Given the description of an element on the screen output the (x, y) to click on. 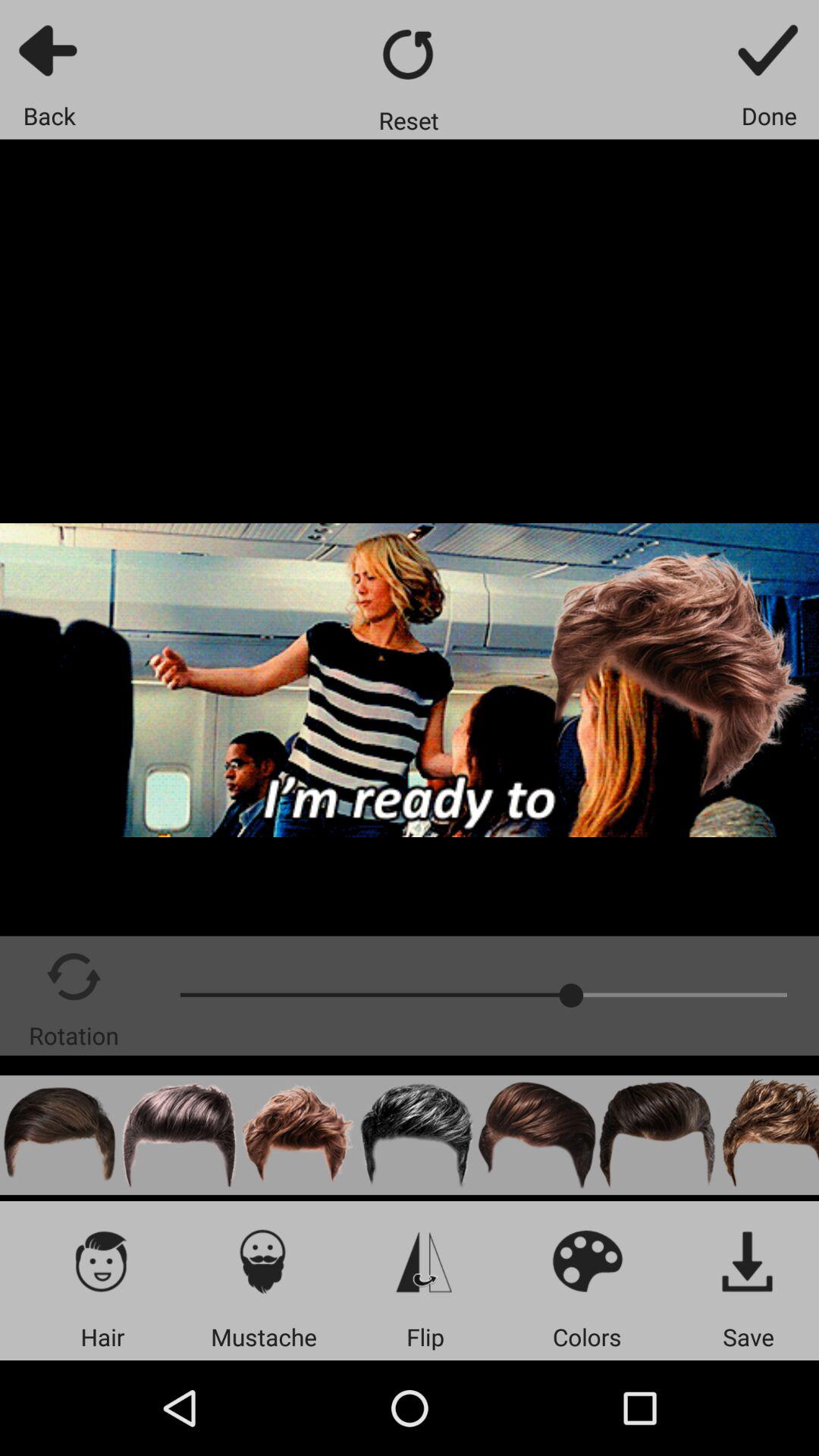
choose mustache (263, 1260)
